Given the description of an element on the screen output the (x, y) to click on. 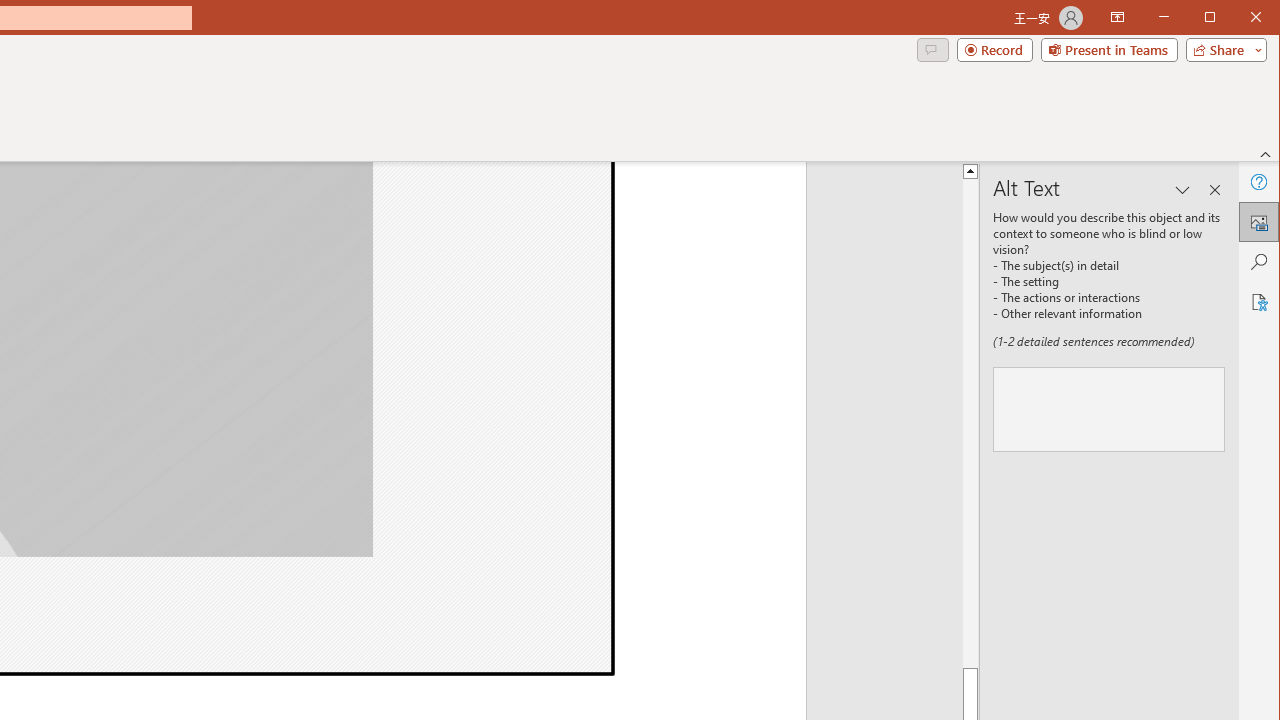
Description (1109, 408)
